Given the description of an element on the screen output the (x, y) to click on. 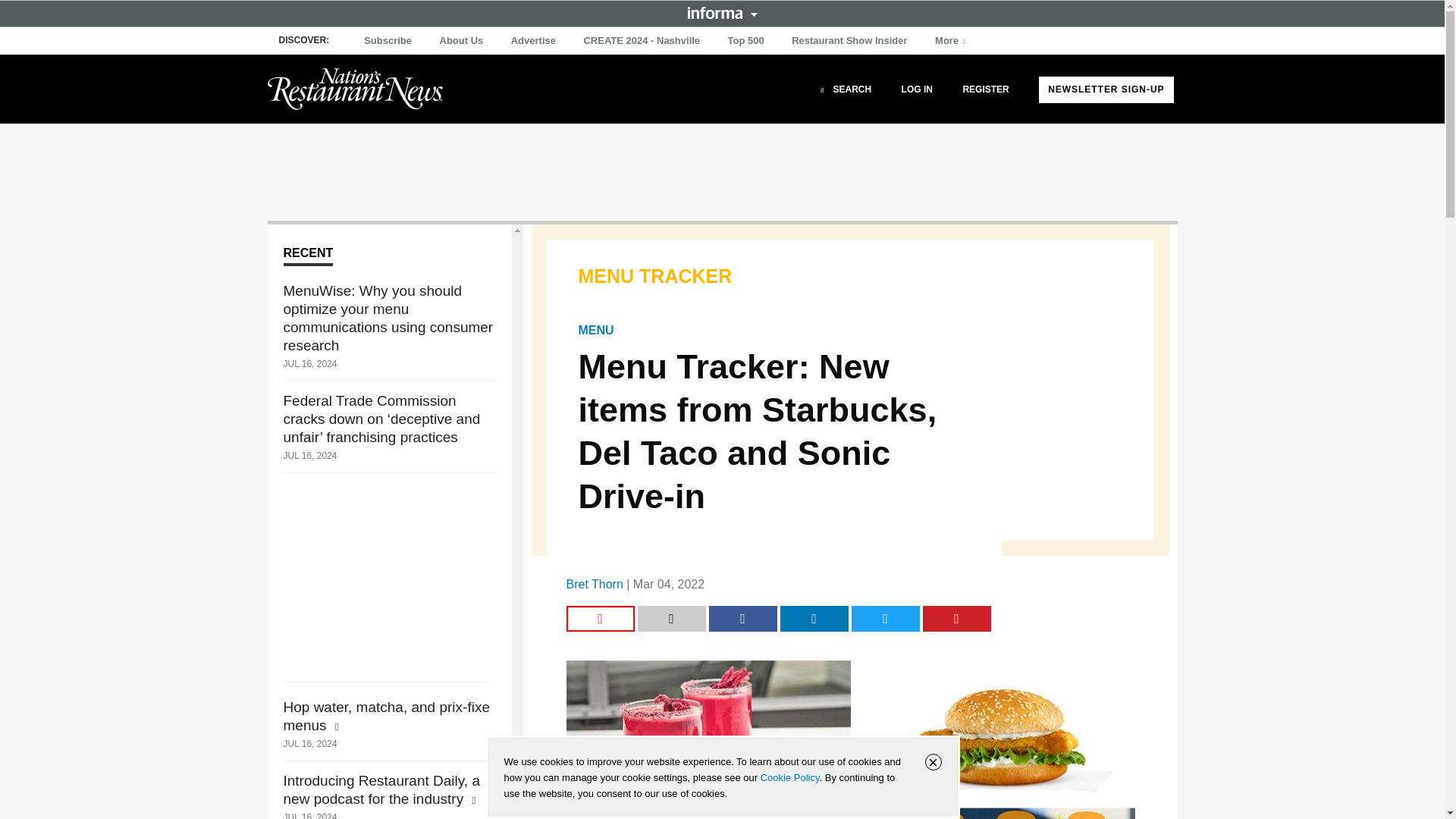
Top 500 (746, 41)
MENU-TRACKER-MARCH-4.jpg (850, 739)
LOG IN (917, 89)
More (951, 41)
Cookie Policy (789, 777)
Restaurant Show Insider (849, 41)
Advertise (533, 41)
Introducing Restaurant Daily, a new podcast for the industry (389, 790)
SEARCH (842, 89)
Hop water, matcha, and prix-fixe menus (389, 716)
3rd party ad content (721, 171)
About Us (461, 41)
NEWSLETTER SIGN-UP (1106, 89)
Bret Thorn (594, 584)
